Given the description of an element on the screen output the (x, y) to click on. 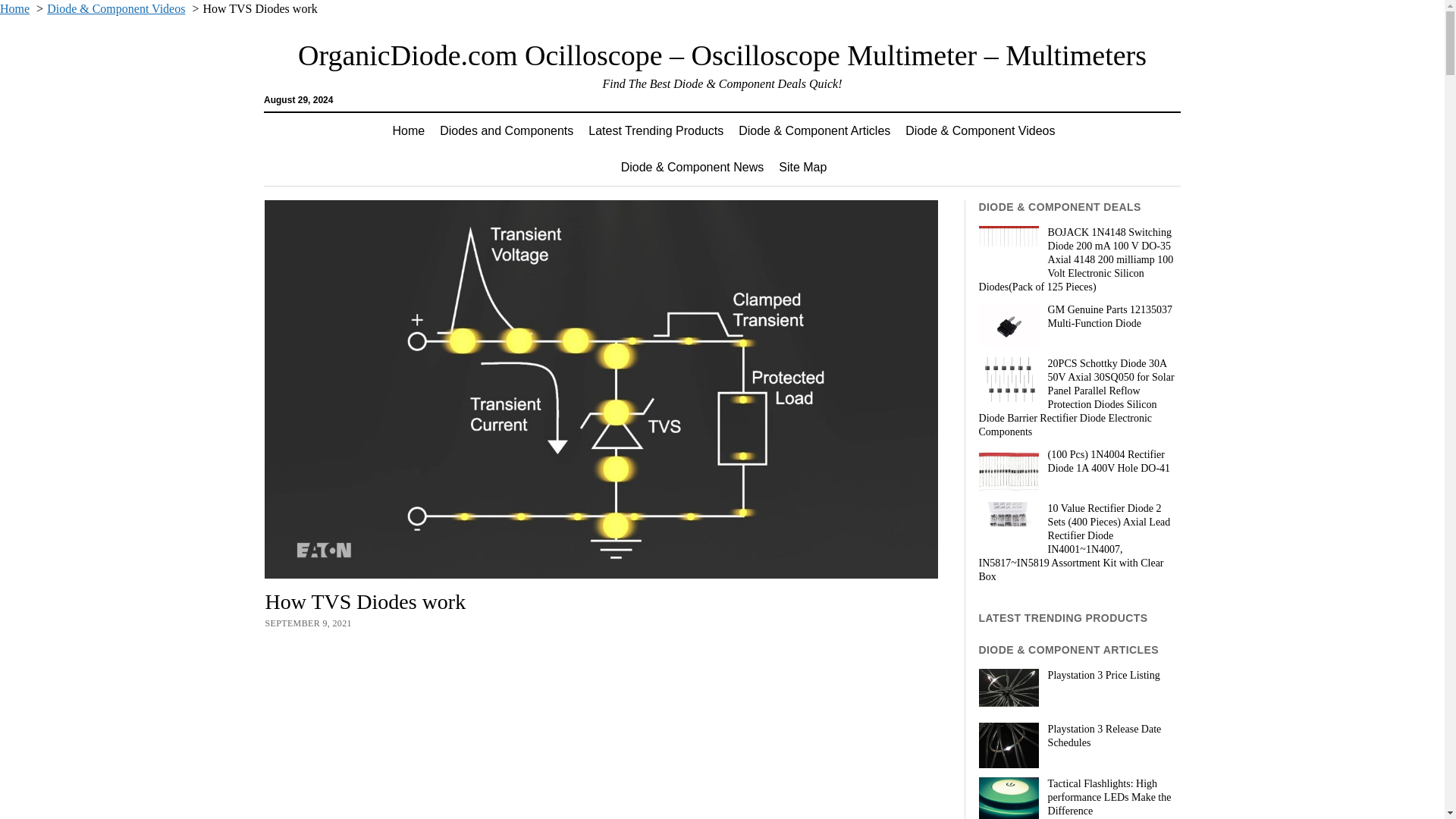
Latest Trending Products (655, 131)
How TVS Diodes work (453, 729)
Site Map (802, 167)
Home (14, 8)
Home (408, 131)
Diodes and Components (506, 131)
